Given the description of an element on the screen output the (x, y) to click on. 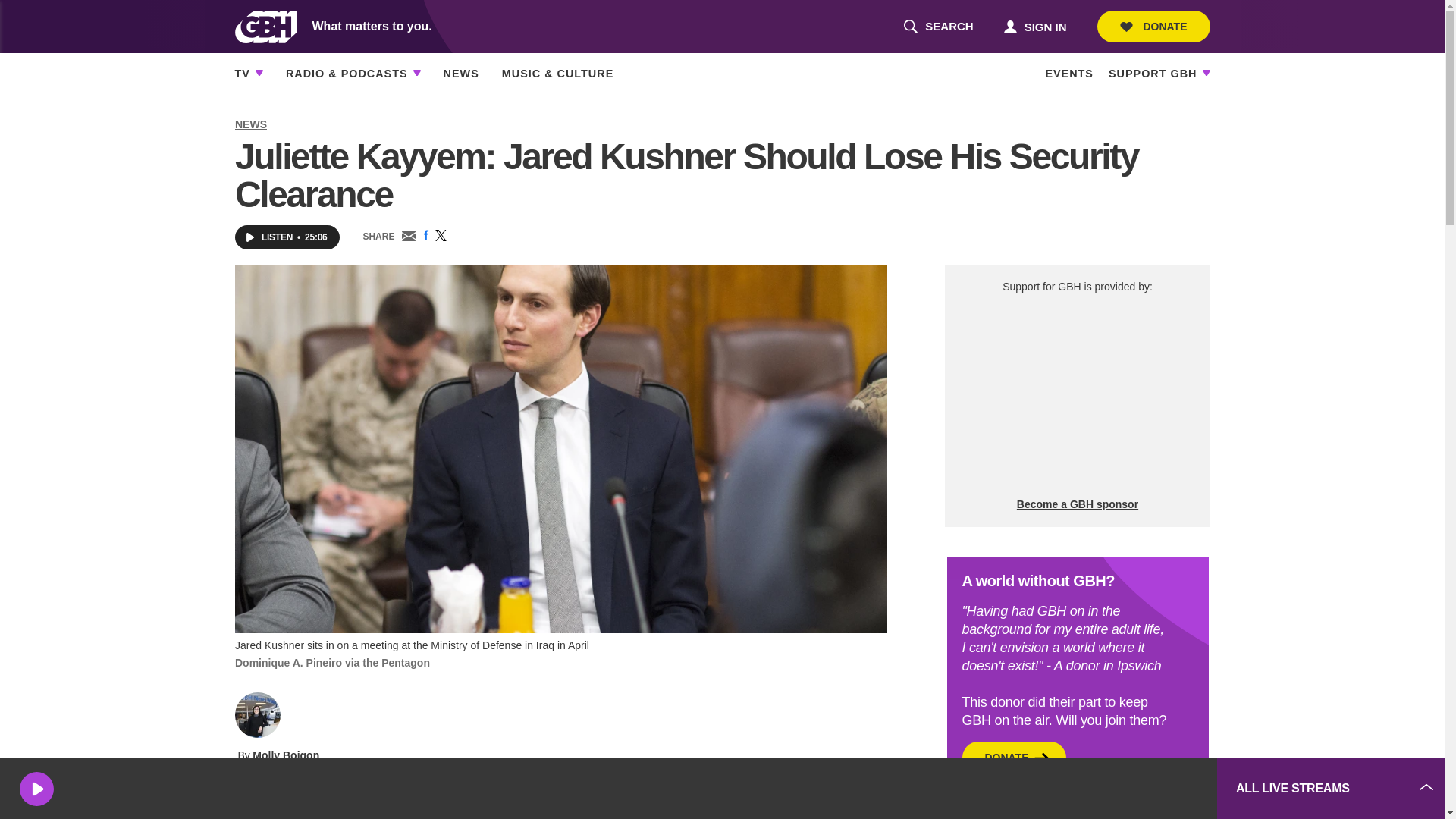
DONATE (1153, 26)
3rd party ad content (1076, 395)
3rd party ad content (1091, 788)
SIGN IN (1034, 25)
